Given the description of an element on the screen output the (x, y) to click on. 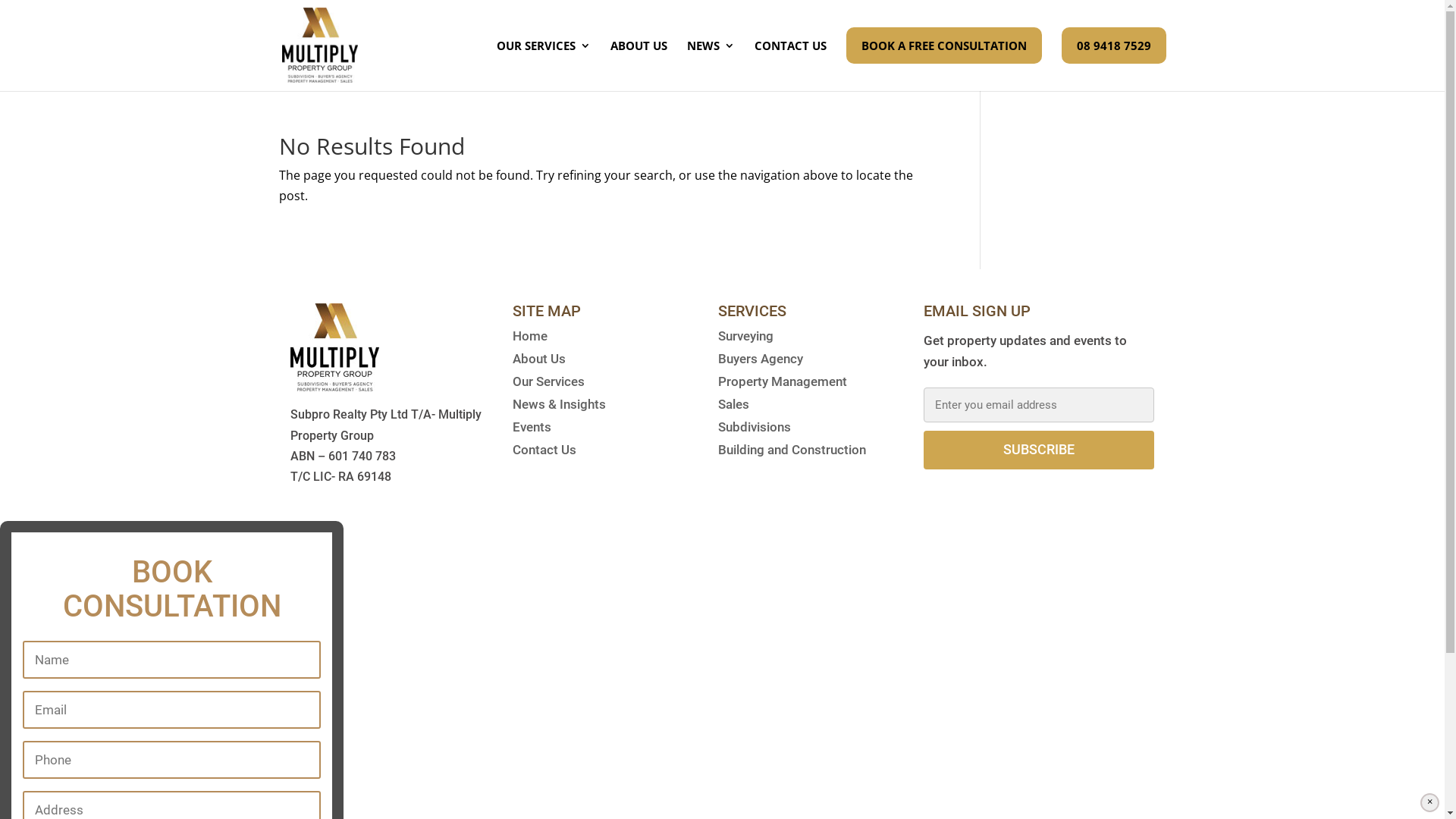
Property Management Element type: text (782, 384)
About Us Element type: text (538, 361)
Sales Element type: text (733, 406)
Building and Construction Element type: text (792, 452)
News & Insights Element type: text (558, 406)
OUR SERVICES Element type: text (542, 57)
logo Element type: hover (333, 347)
Buyers Agency Element type: text (760, 361)
Subscribe Element type: text (1038, 449)
CONTACT US Element type: text (789, 57)
BOOK A FREE CONSULTATION Element type: text (943, 45)
Subdivisions Element type: text (754, 429)
Our Services Element type: text (548, 384)
NEWS Element type: text (710, 57)
ABOUT US Element type: text (637, 57)
Contact Us Element type: text (544, 452)
Events Element type: text (531, 429)
Home Element type: text (529, 338)
Surveying Element type: text (745, 338)
08 9418 7529 Element type: text (1113, 45)
